Given the description of an element on the screen output the (x, y) to click on. 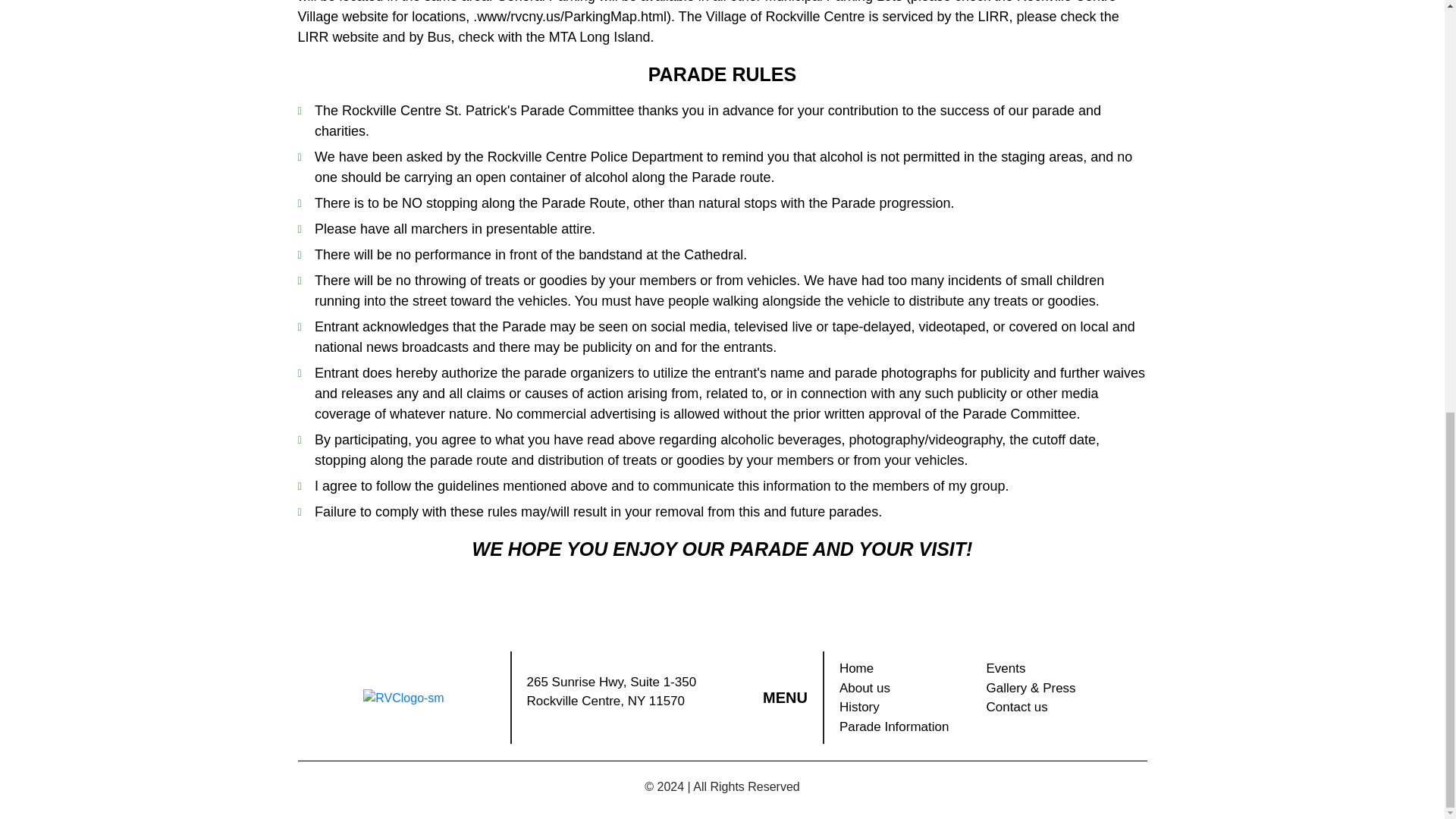
History (905, 707)
RVClogo-sm (403, 698)
About us (905, 688)
Home (905, 668)
Contact us (1055, 707)
Events (1055, 668)
Parade Information (905, 727)
